Given the description of an element on the screen output the (x, y) to click on. 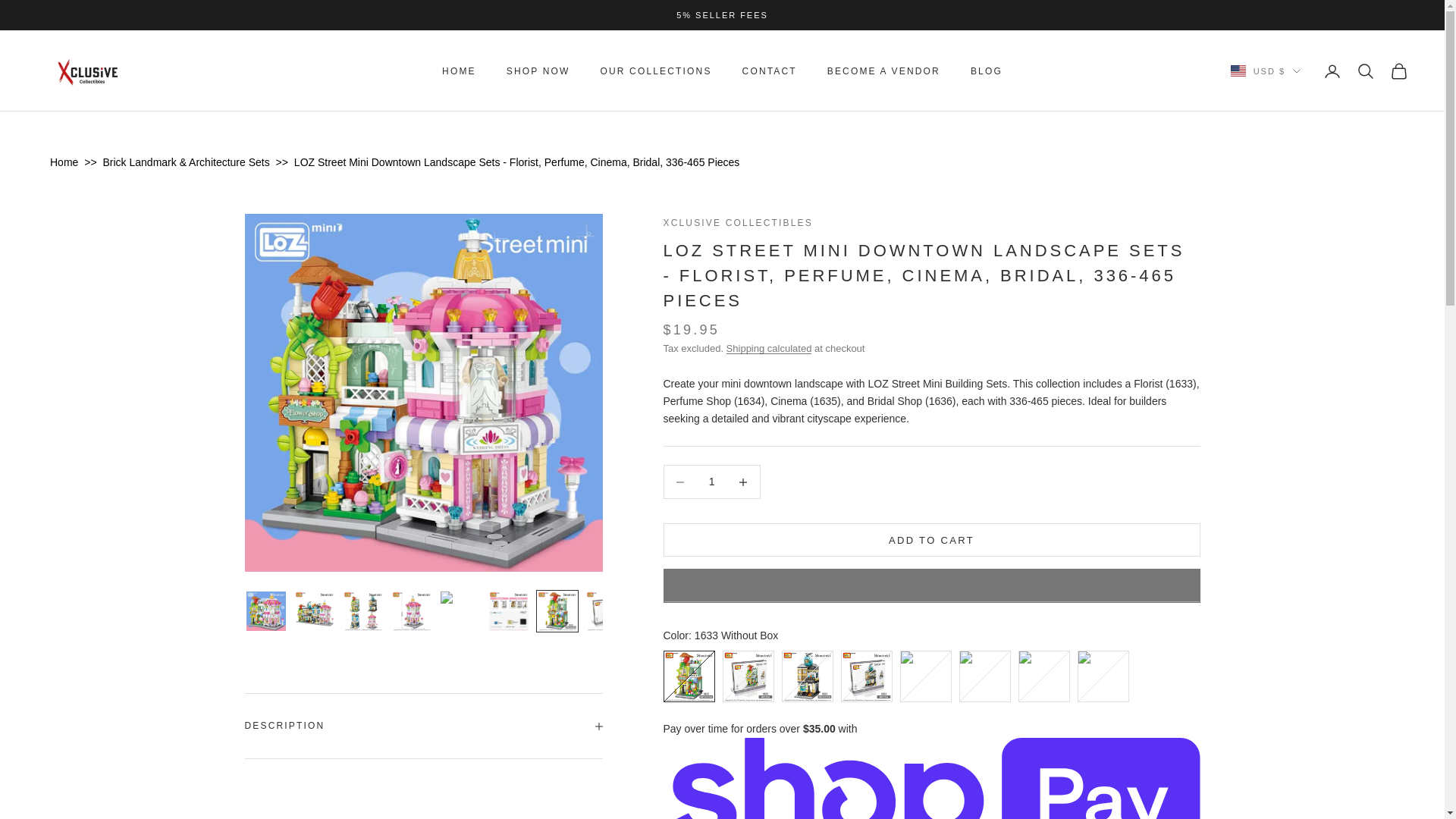
DESCRIPTION (423, 725)
SHOP NOW (538, 70)
1 (711, 481)
Xclusive Collectibles (89, 70)
HOME (459, 70)
